Given the description of an element on the screen output the (x, y) to click on. 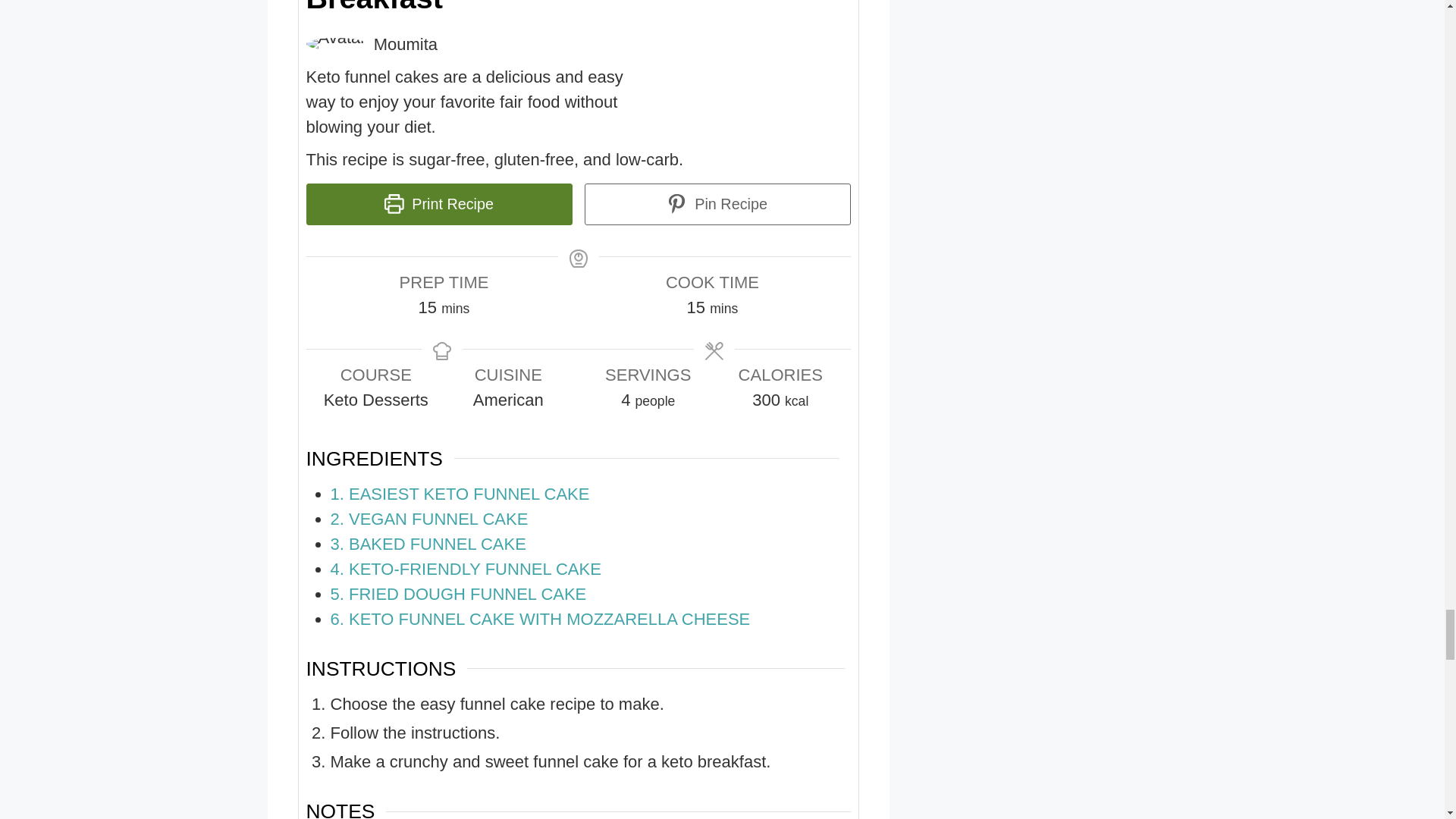
Pin Recipe (716, 204)
2. VEGAN FUNNEL CAKE (429, 518)
Print Recipe (438, 204)
1. EASIEST KETO FUNNEL CAKE (459, 493)
